Given the description of an element on the screen output the (x, y) to click on. 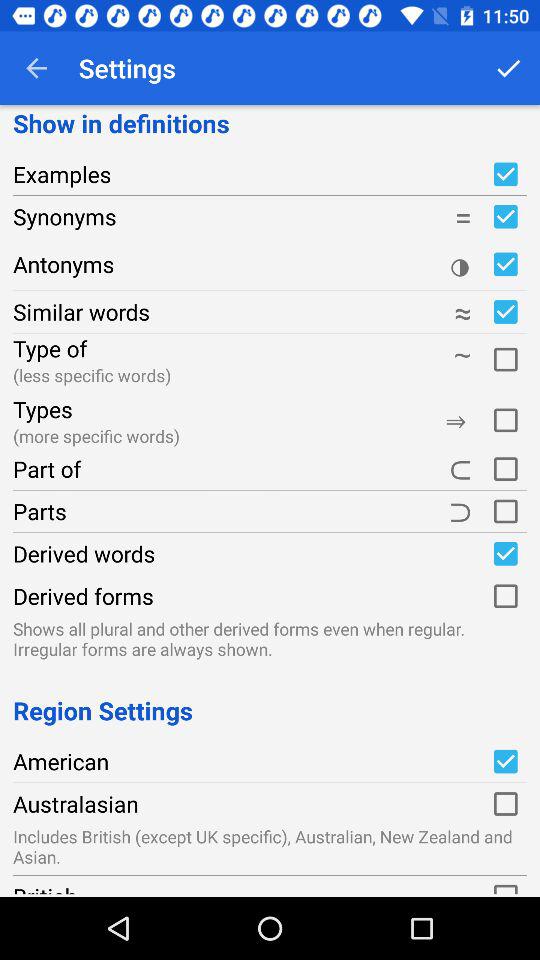
switch specific word types (505, 417)
